Given the description of an element on the screen output the (x, y) to click on. 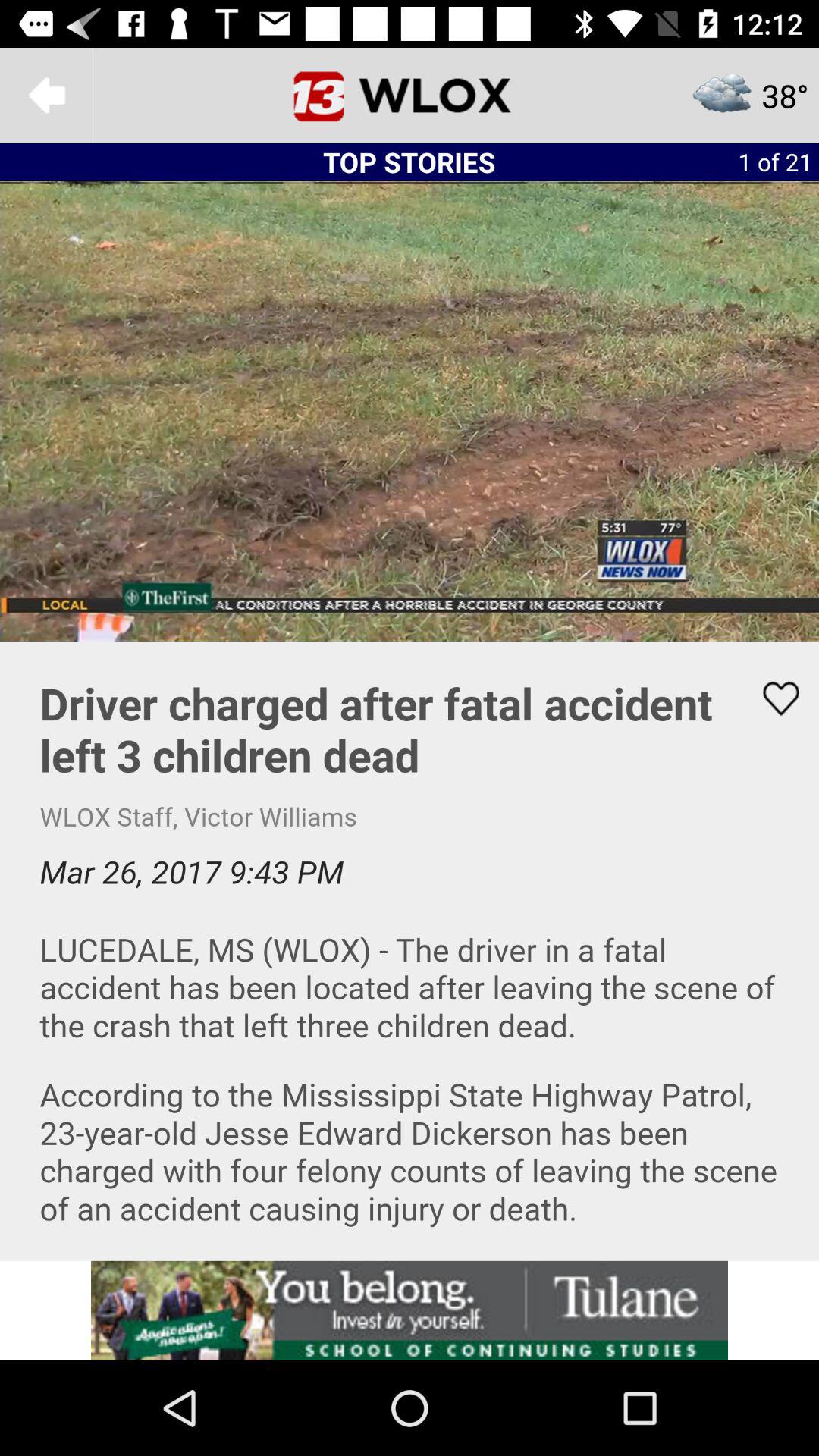
button to like the article (771, 698)
